Given the description of an element on the screen output the (x, y) to click on. 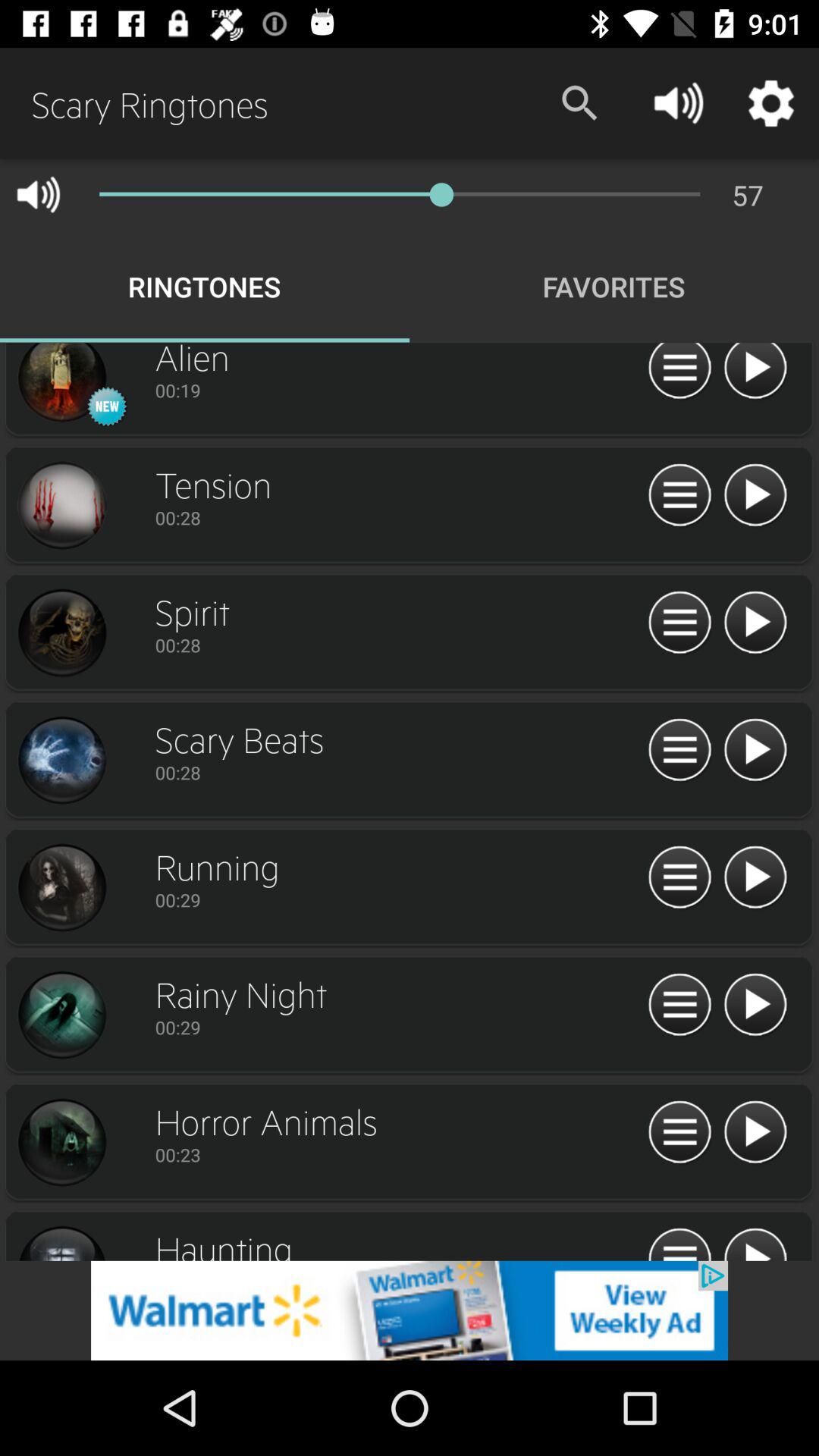
open ringtone (679, 877)
